Given the description of an element on the screen output the (x, y) to click on. 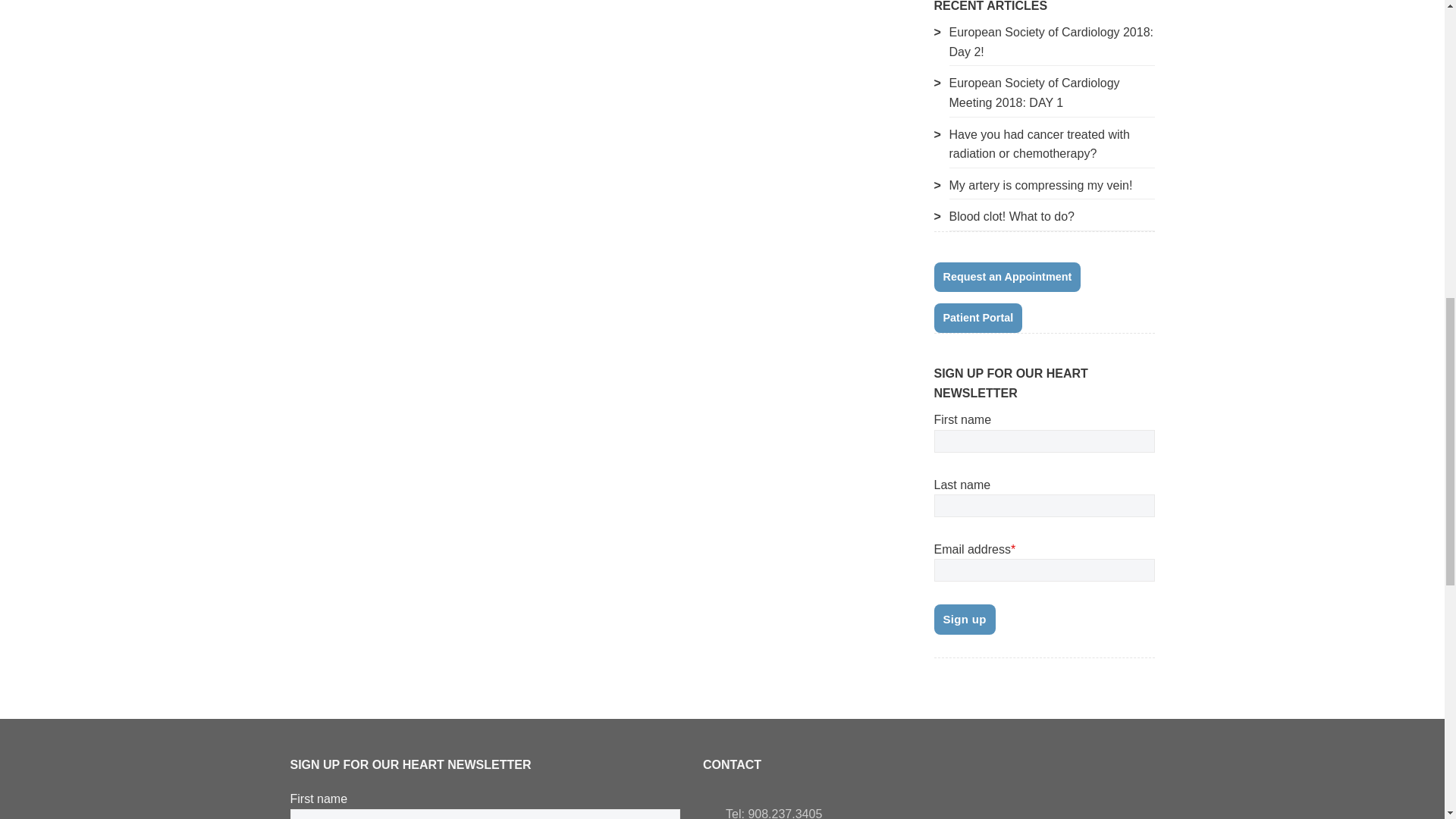
Sign up (964, 619)
